Given the description of an element on the screen output the (x, y) to click on. 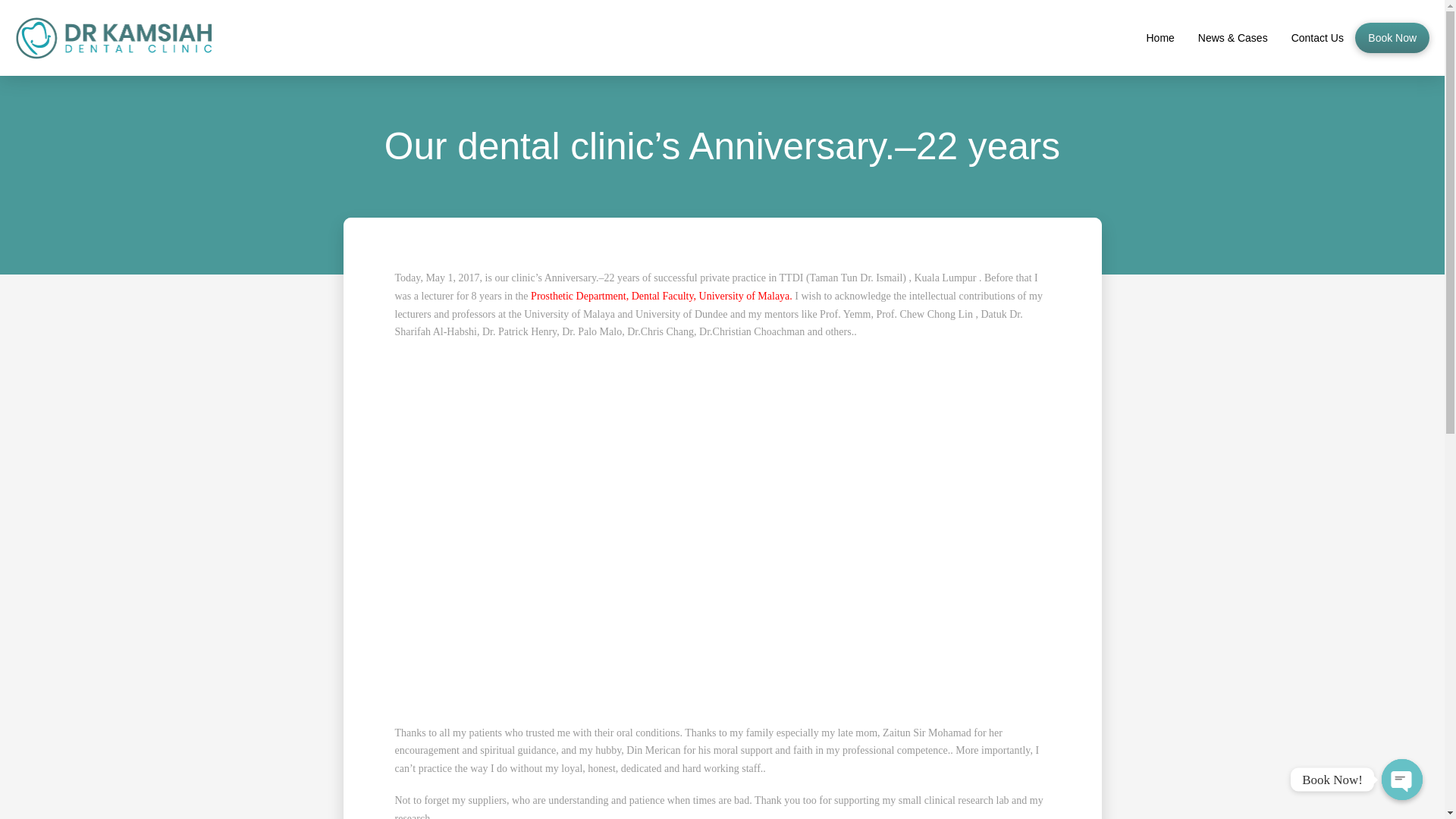
Book Now (1392, 37)
Home (1160, 38)
Contact Us (1317, 38)
